Given the description of an element on the screen output the (x, y) to click on. 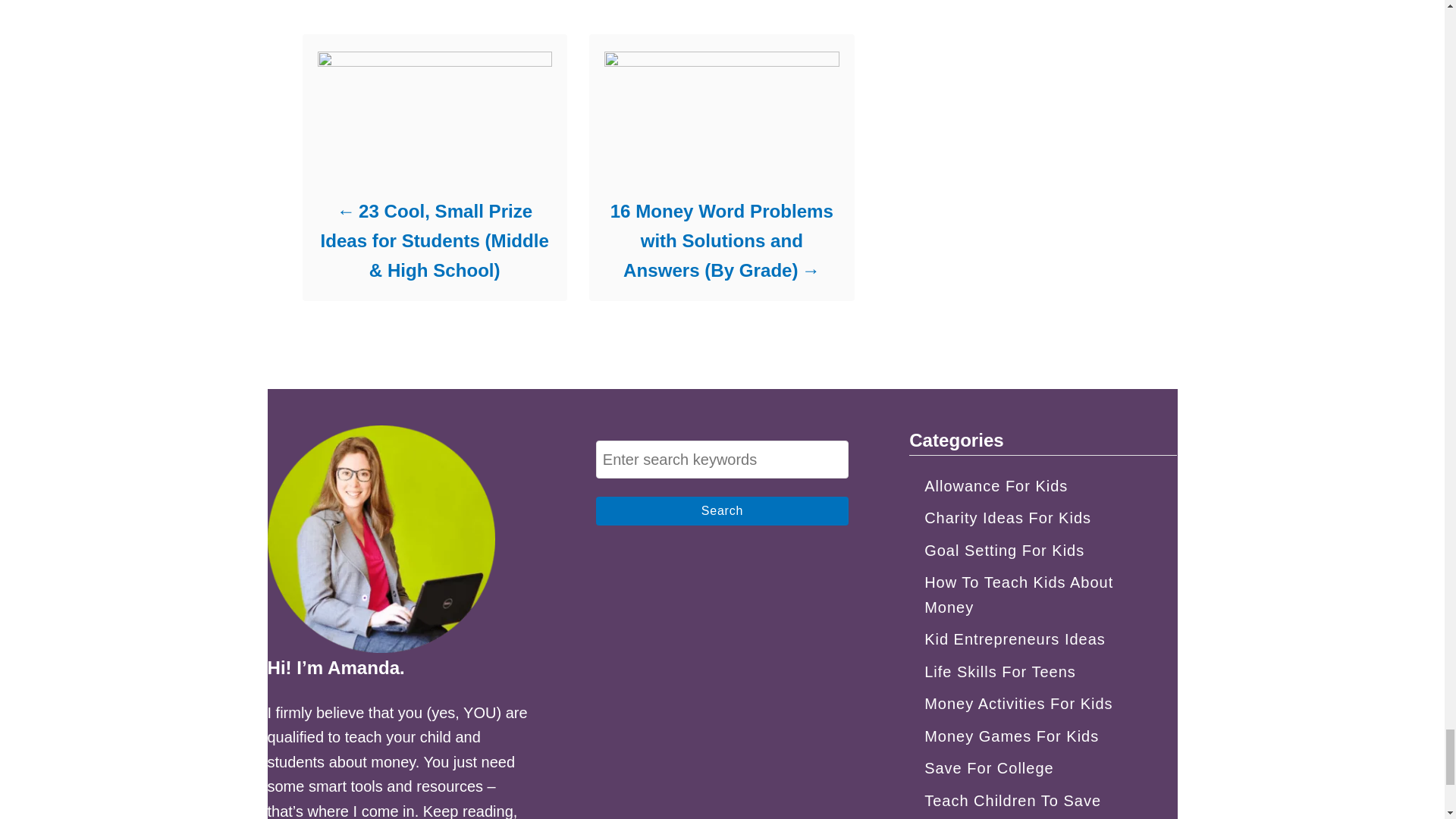
Search (721, 510)
Search (721, 510)
